Given the description of an element on the screen output the (x, y) to click on. 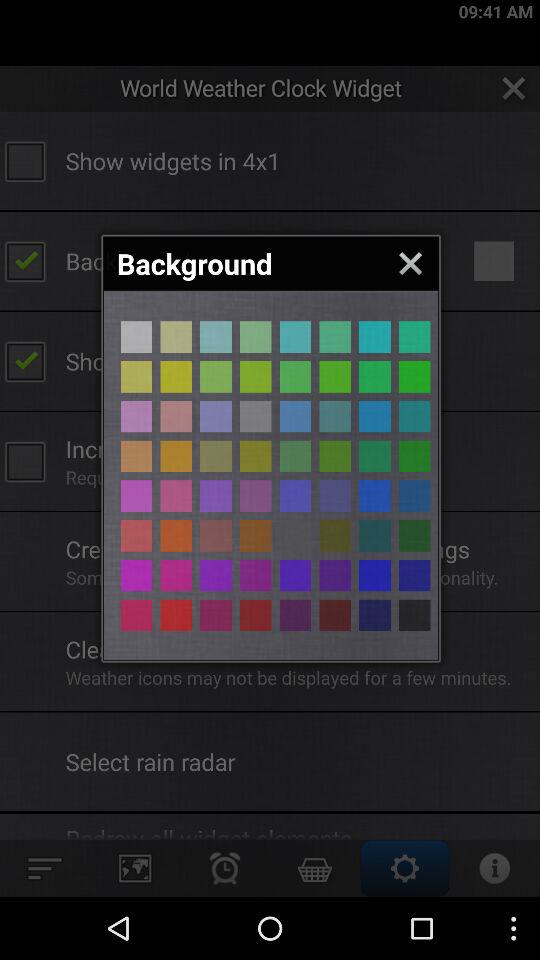
box (215, 575)
